Given the description of an element on the screen output the (x, y) to click on. 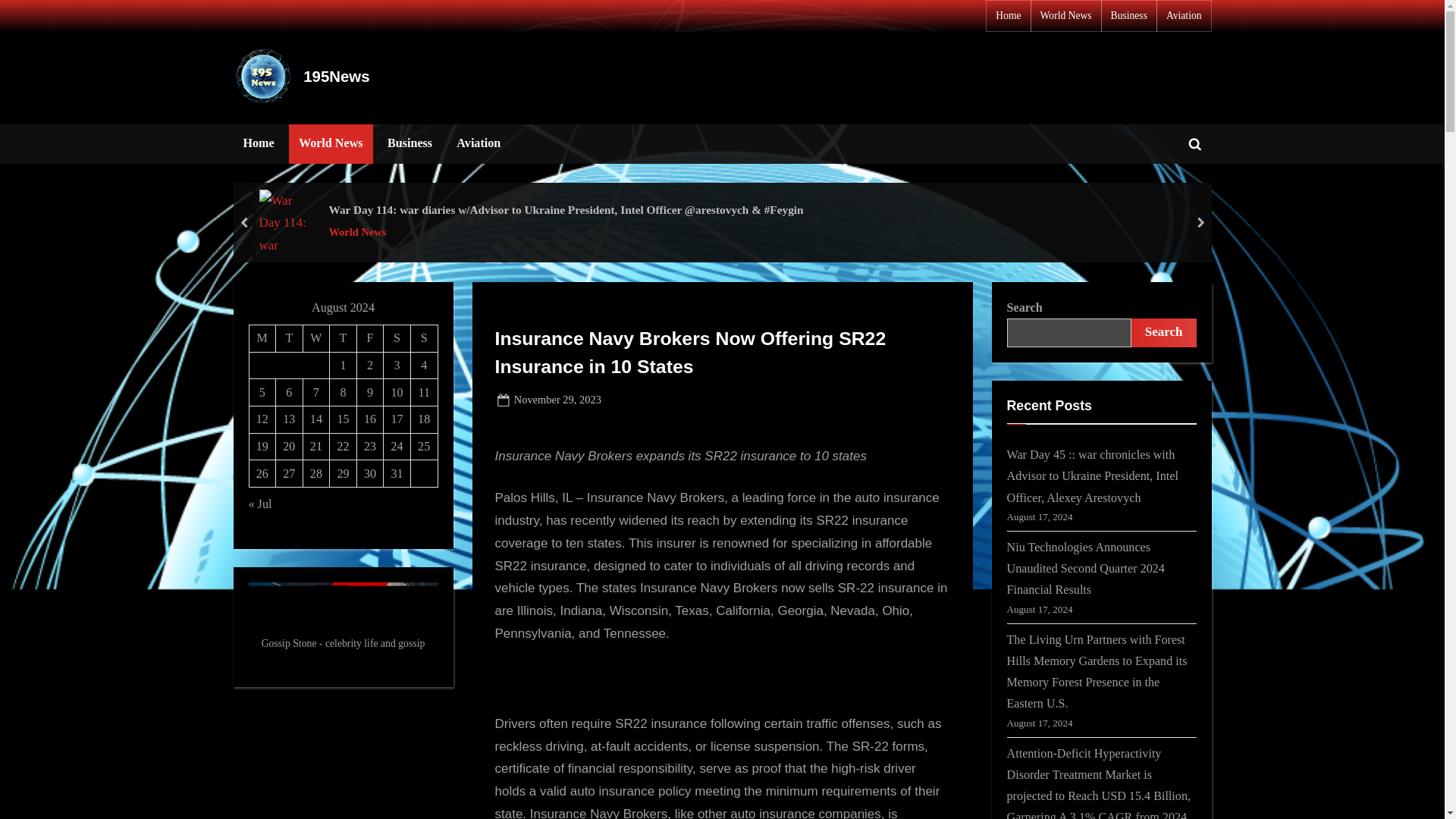
Home (1007, 15)
195News (335, 76)
Home (257, 143)
Aviation (1184, 15)
World News (1066, 15)
Aviation (478, 143)
Toggle search form (1194, 144)
World News (566, 231)
Business (1128, 15)
Business (409, 143)
